Given the description of an element on the screen output the (x, y) to click on. 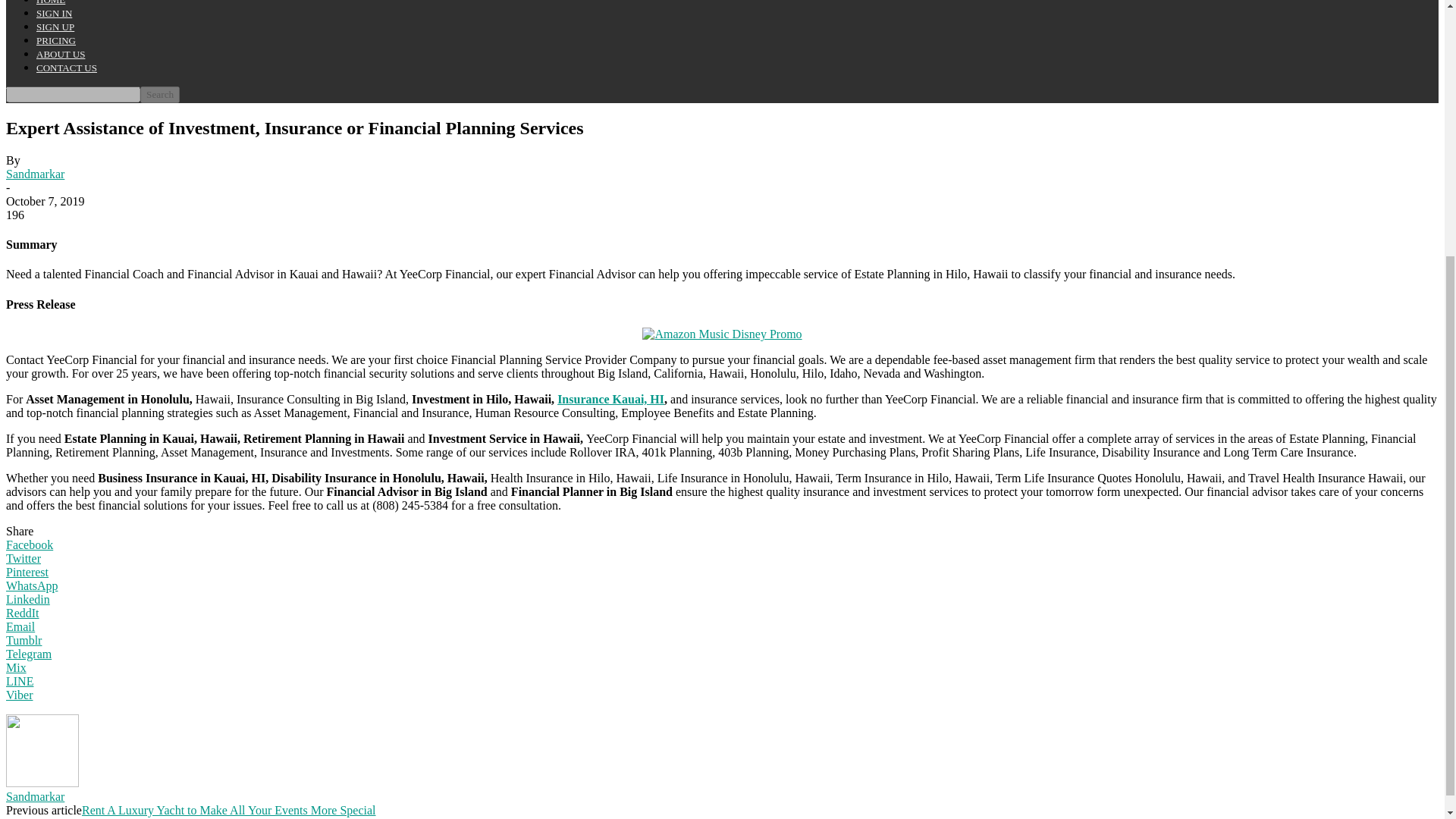
SIGN UP (55, 26)
HOME (50, 2)
Search (159, 94)
Insurance Kauai, HI (610, 399)
Sandmarkar (34, 173)
Search (159, 94)
CONTACT US (66, 67)
ABOUT US (60, 53)
PRICING (55, 40)
SIGN IN (53, 12)
